Given the description of an element on the screen output the (x, y) to click on. 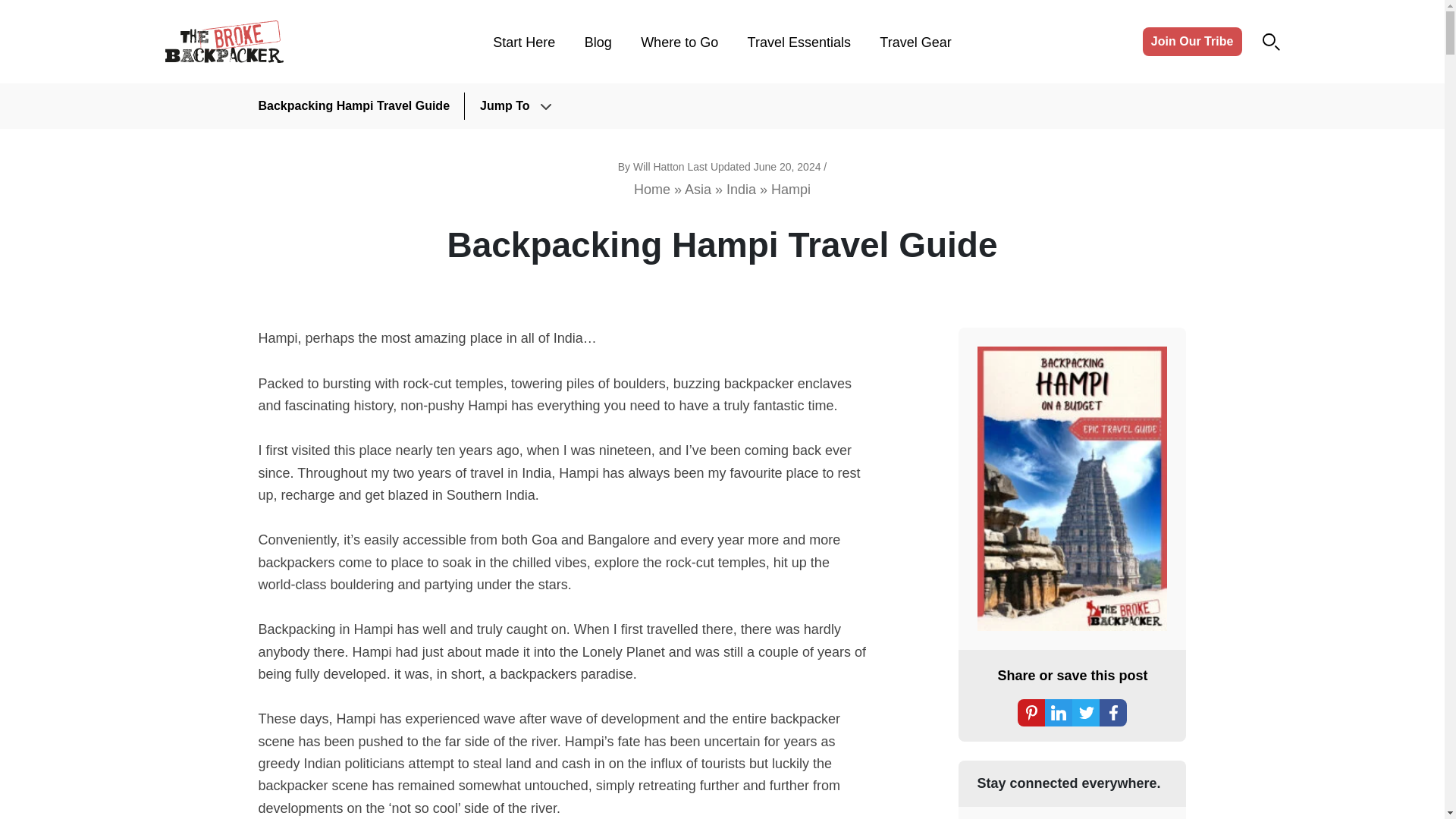
Blog (598, 42)
Where to Go (678, 42)
Start Here (523, 42)
